Given the description of an element on the screen output the (x, y) to click on. 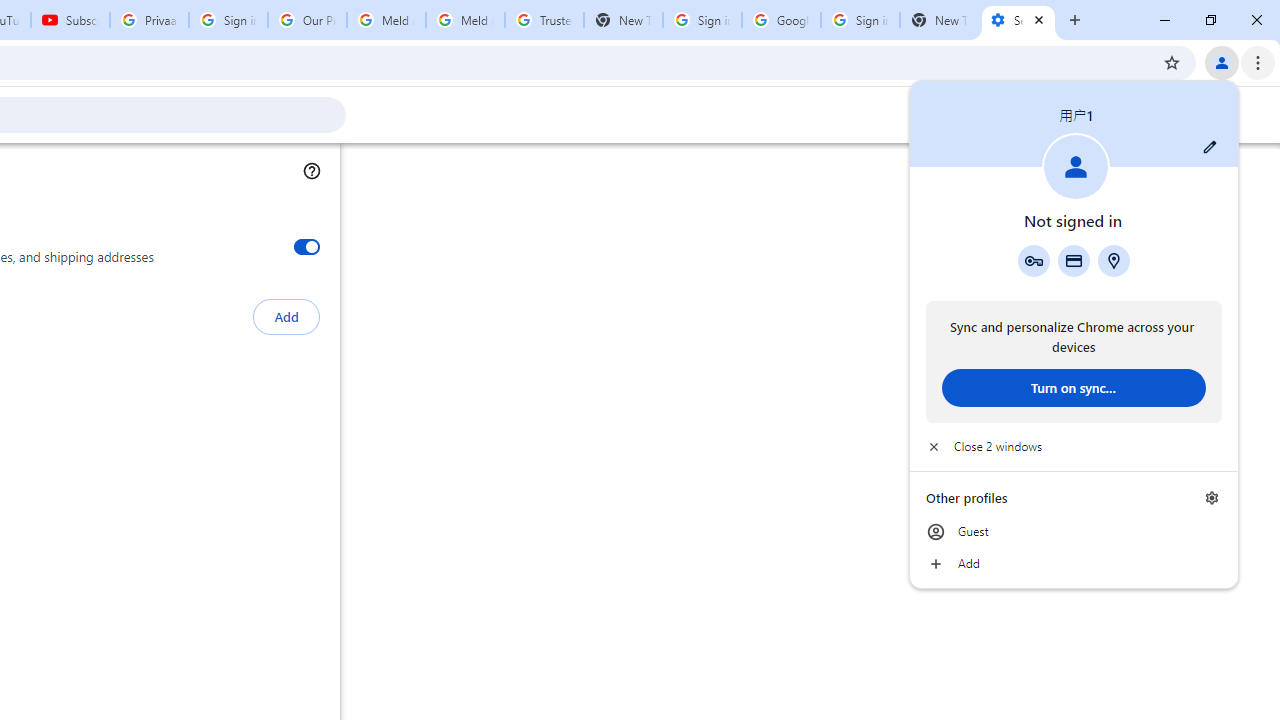
Add (1073, 563)
Customize profile (1210, 147)
Sign in - Google Accounts (859, 20)
Addresses and more (1114, 260)
Settings - Addresses and more (1018, 20)
Subscriptions - YouTube (70, 20)
Guest (1073, 531)
